Given the description of an element on the screen output the (x, y) to click on. 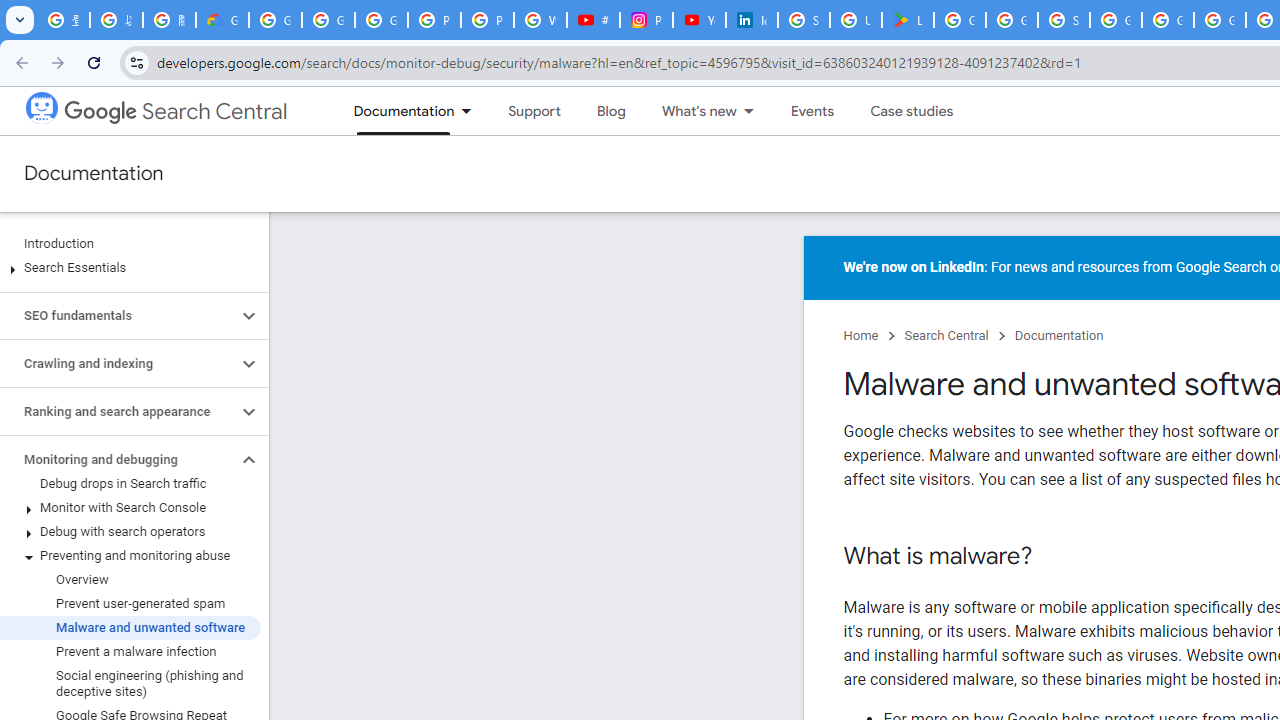
Search Central (946, 335)
Dropdown menu for Documentation (472, 111)
#nbabasketballhighlights - YouTube (593, 20)
Last Shelter: Survival - Apps on Google Play (907, 20)
Home (861, 335)
Case studies (911, 111)
Events (811, 111)
Sign in - Google Accounts (1064, 20)
